Given the description of an element on the screen output the (x, y) to click on. 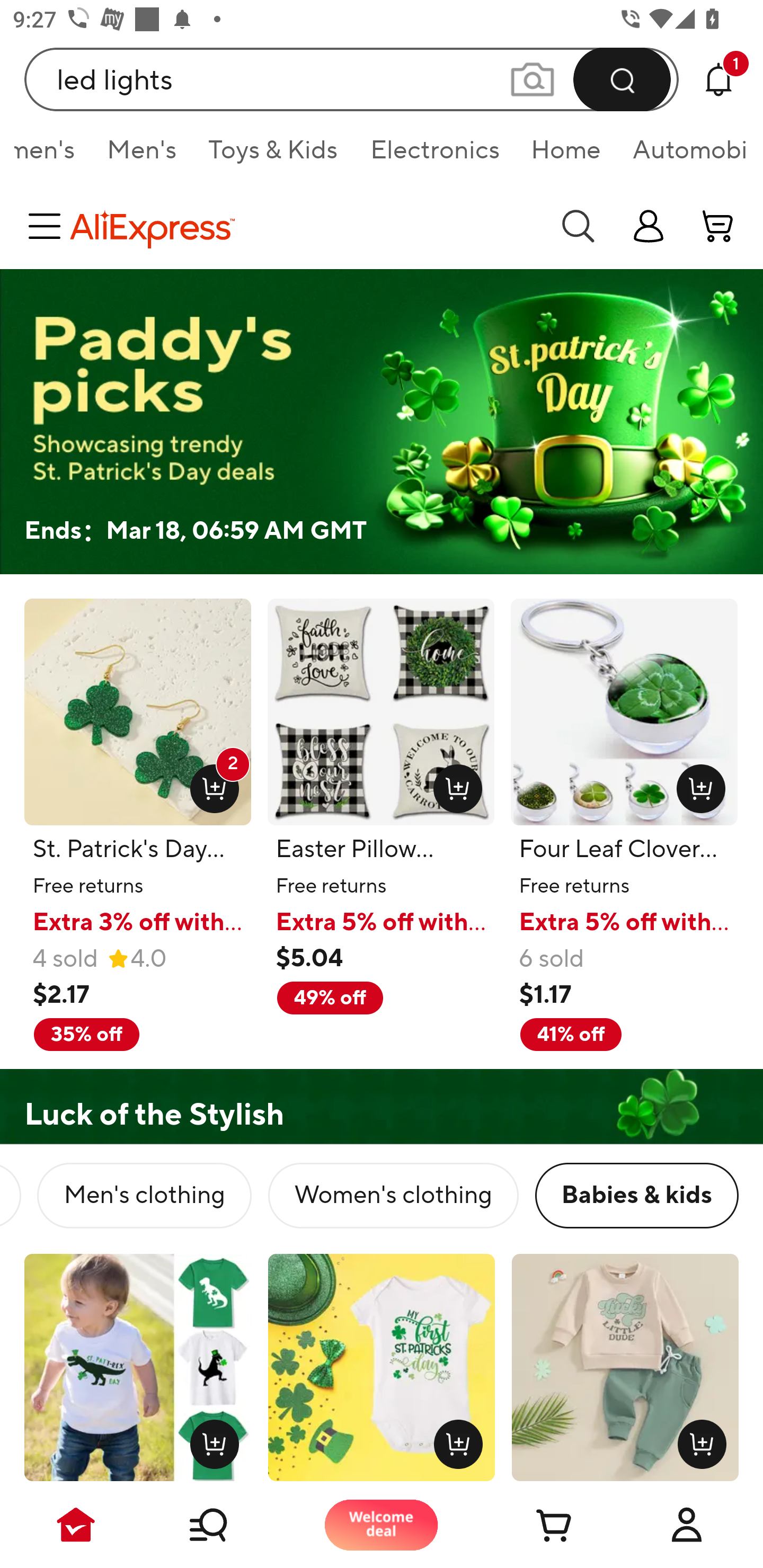
led lights (351, 79)
Women's (52, 155)
Men's (141, 155)
Toys & Kids (273, 155)
Electronics (434, 155)
Home (565, 155)
Automobile (681, 155)
aliexpress (305, 225)
category (47, 225)
shop (648, 225)
account (718, 225)
2 128x128.png_ (210, 784)
128x128.png_ (453, 784)
128x128.png_ (695, 784)
Men's clothing (144, 1195)
Women's clothing (393, 1195)
Babies & kids (636, 1195)
128x128.png_ (210, 1439)
128x128.png_ (454, 1439)
128x128.png_ (697, 1439)
Shop (228, 1524)
Cart (533, 1524)
Account (686, 1524)
